Given the description of an element on the screen output the (x, y) to click on. 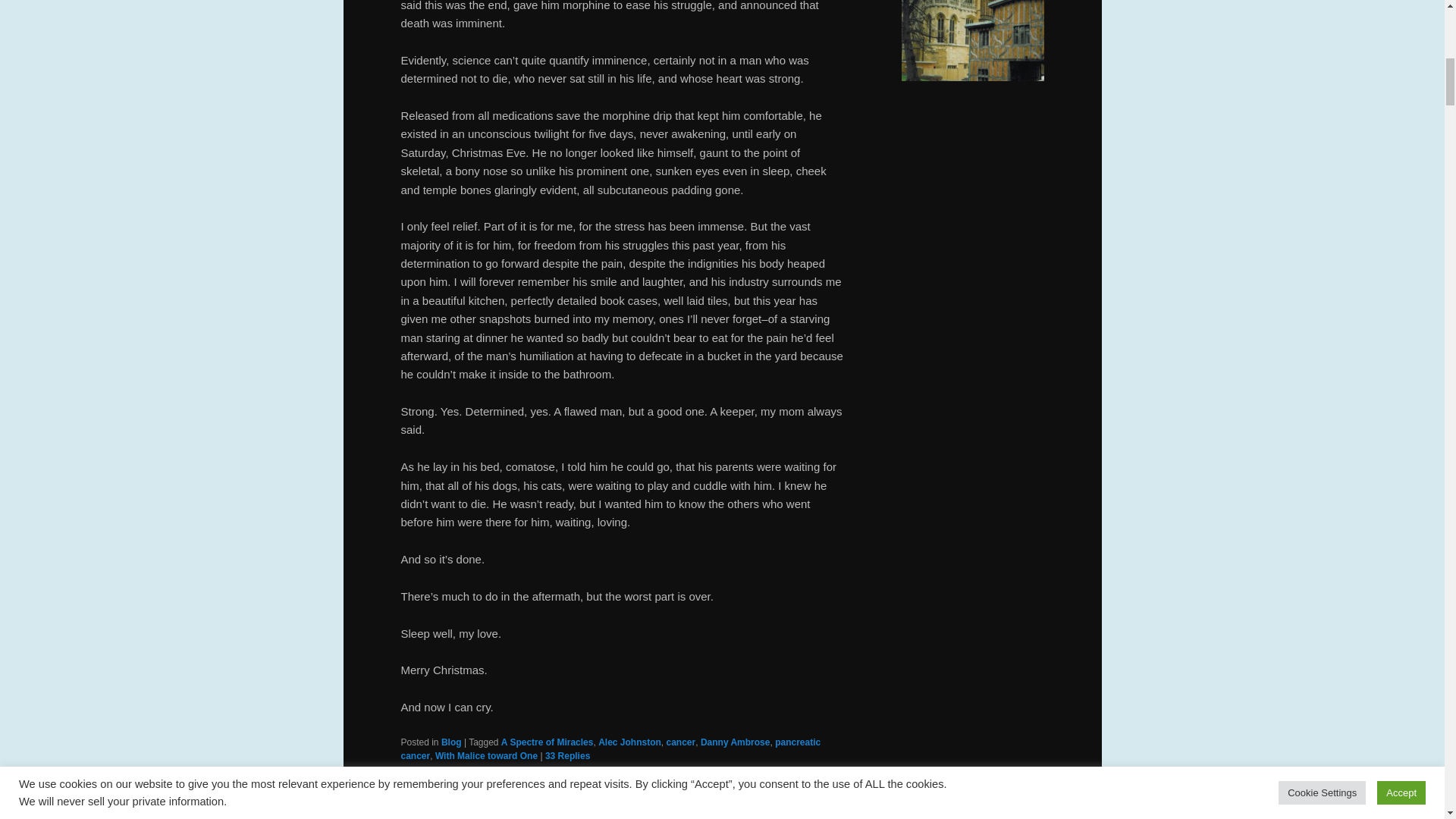
cancer (680, 742)
A Spectre of Miracles (547, 742)
Blog (451, 742)
Alec Johnston (629, 742)
Danny Ambrose (735, 742)
pancreatic cancer (610, 749)
